Given the description of an element on the screen output the (x, y) to click on. 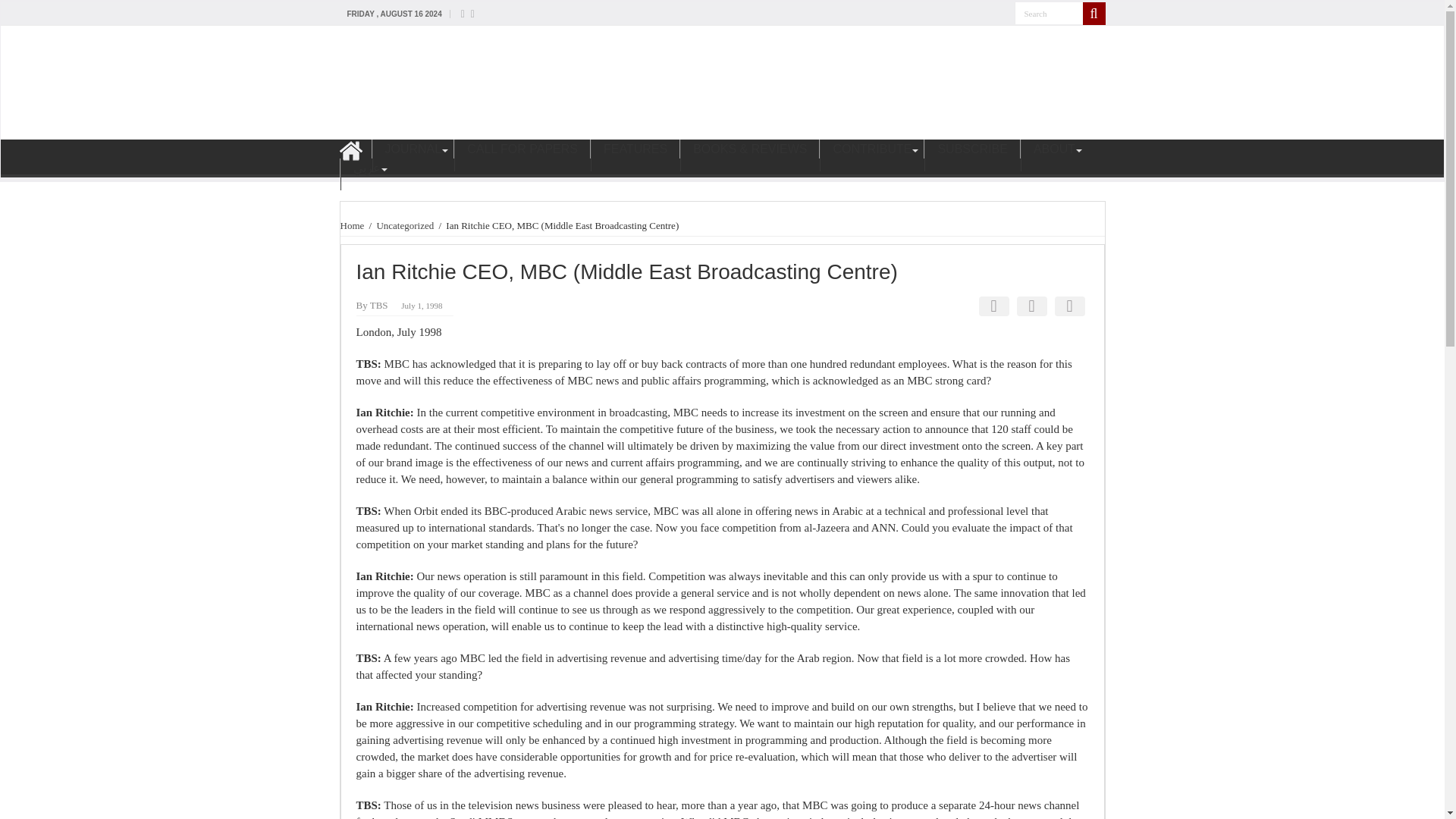
Home (351, 225)
CALL FOR PAPERS (521, 155)
By TBS (372, 305)
Search (1048, 13)
SUBSCRIBE (971, 155)
HOME (355, 155)
Search (1048, 13)
CONTRIBUTE (871, 155)
Search (1048, 13)
ABOUT (1053, 155)
